Given the description of an element on the screen output the (x, y) to click on. 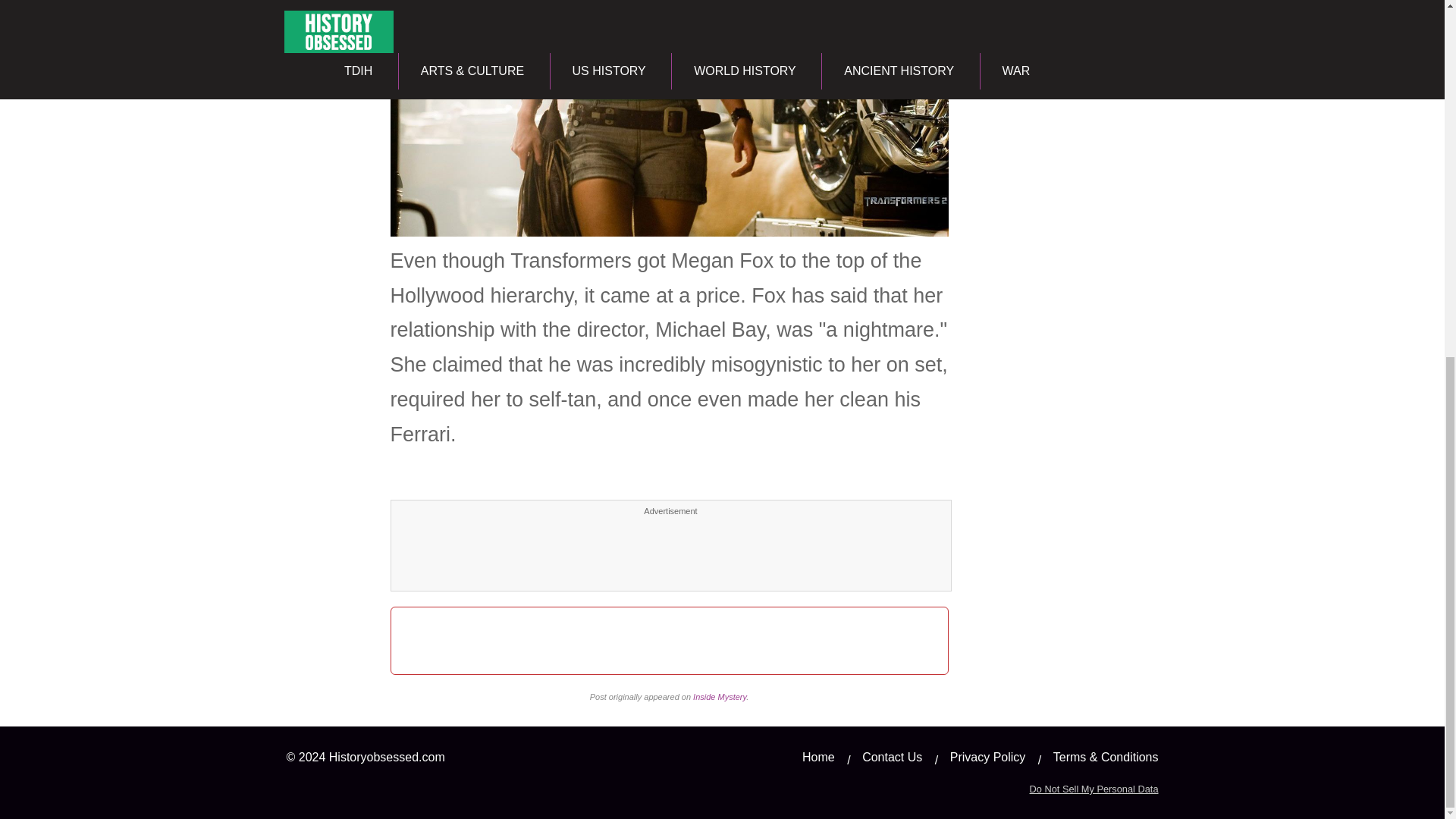
Privacy Policy (988, 757)
Inside Mystery (719, 696)
Contact Us (891, 757)
Home (818, 757)
Do Not Sell My Personal Data (1093, 788)
